Given the description of an element on the screen output the (x, y) to click on. 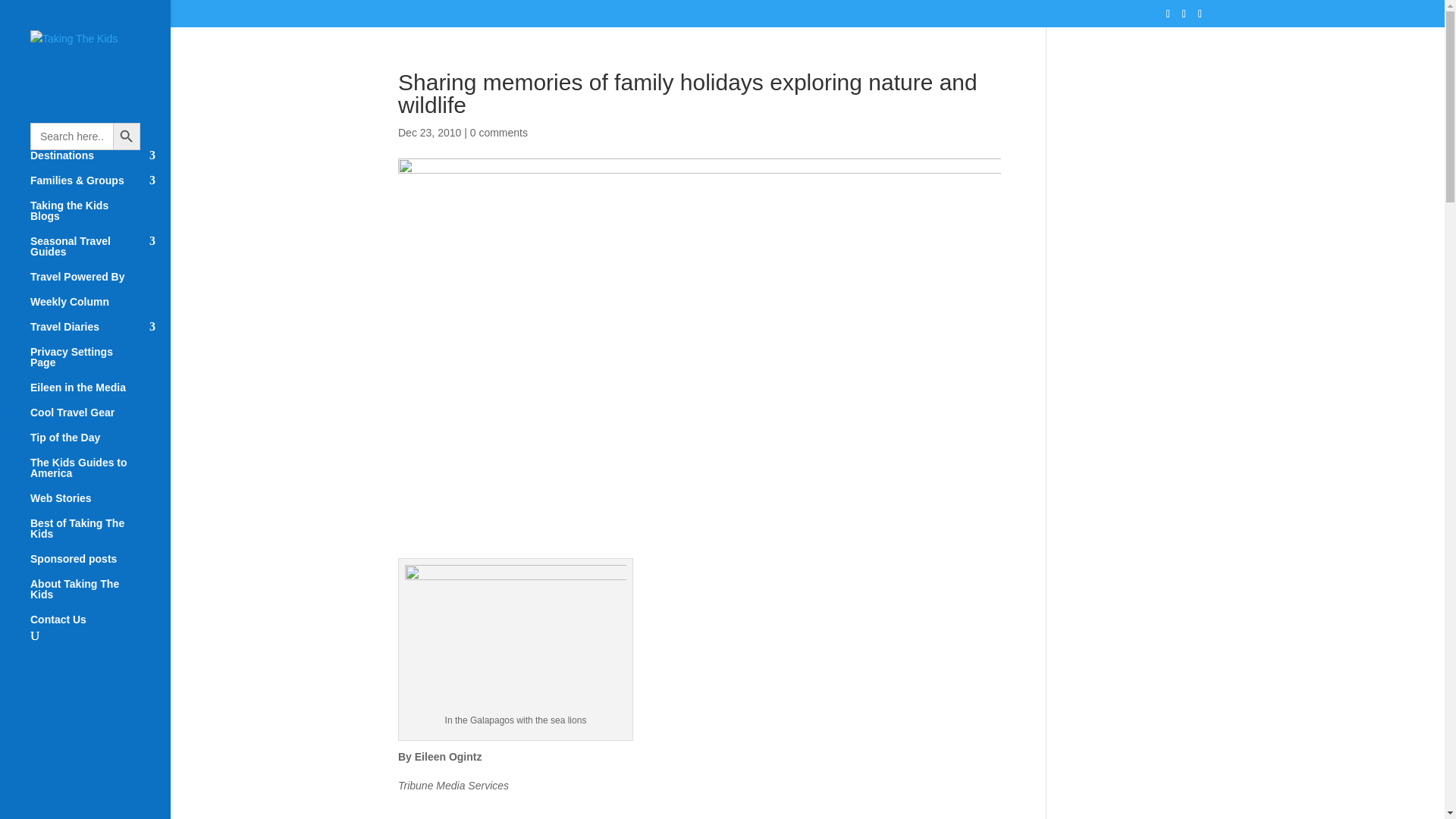
Tip of the Day (100, 444)
Cool Travel Gear (100, 419)
Eileen in the Media (100, 394)
The Kids Guides to America (100, 475)
Web Stories (100, 505)
Seasonal Travel Guides (100, 253)
Taking the Kids Blogs (100, 217)
Travel Powered By (100, 283)
Travel Diaries (100, 333)
Search Button (126, 135)
